Given the description of an element on the screen output the (x, y) to click on. 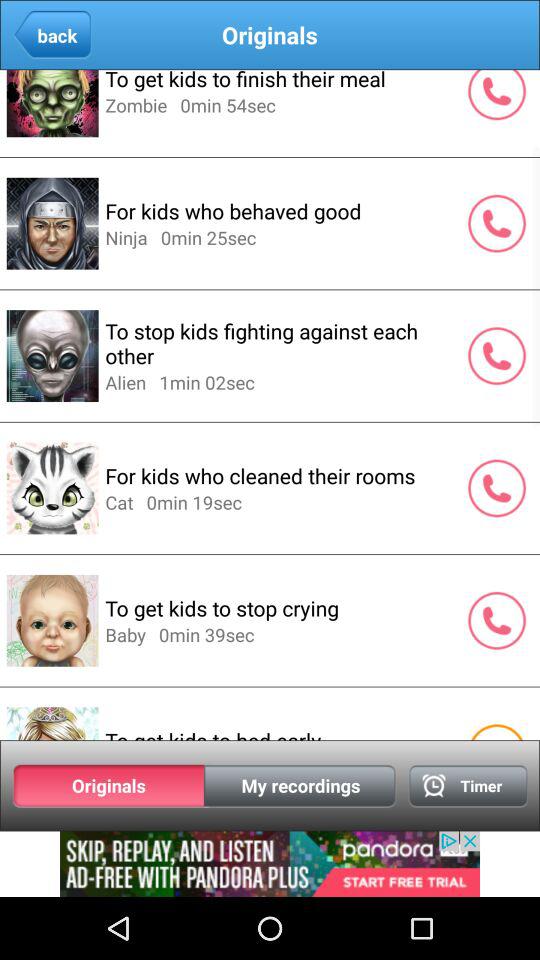
advertisement banner (270, 864)
